Given the description of an element on the screen output the (x, y) to click on. 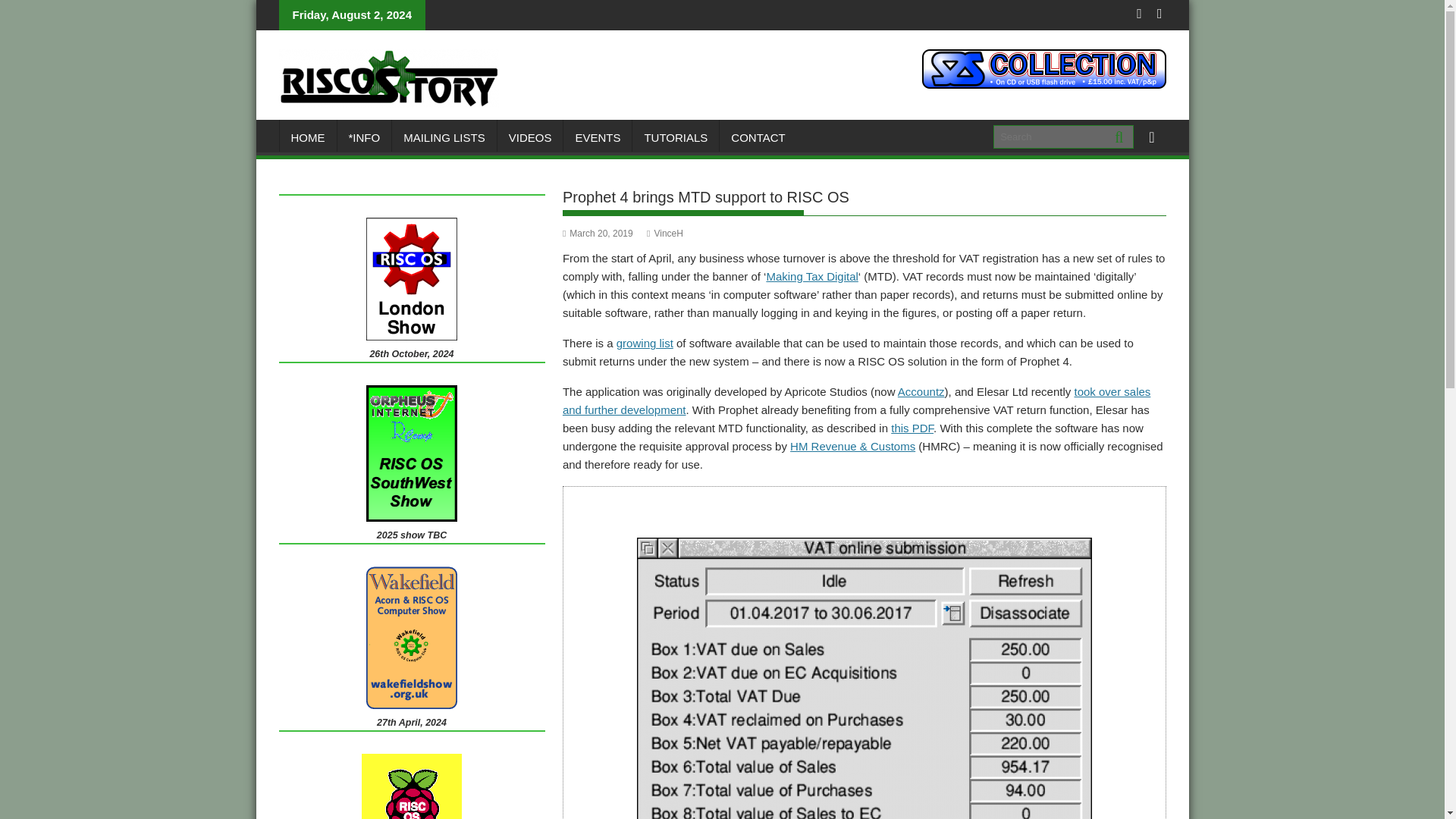
HOME (307, 137)
CONTACT (757, 137)
Making Tax Digital (811, 276)
EVENTS (597, 137)
March 20, 2019 (597, 233)
MAILING LISTS (443, 137)
growing list (643, 342)
TUTORIALS (675, 137)
this PDF (912, 427)
VinceH (664, 233)
Accountz (921, 391)
took over sales and further development (856, 400)
VIDEOS (530, 137)
